Given the description of an element on the screen output the (x, y) to click on. 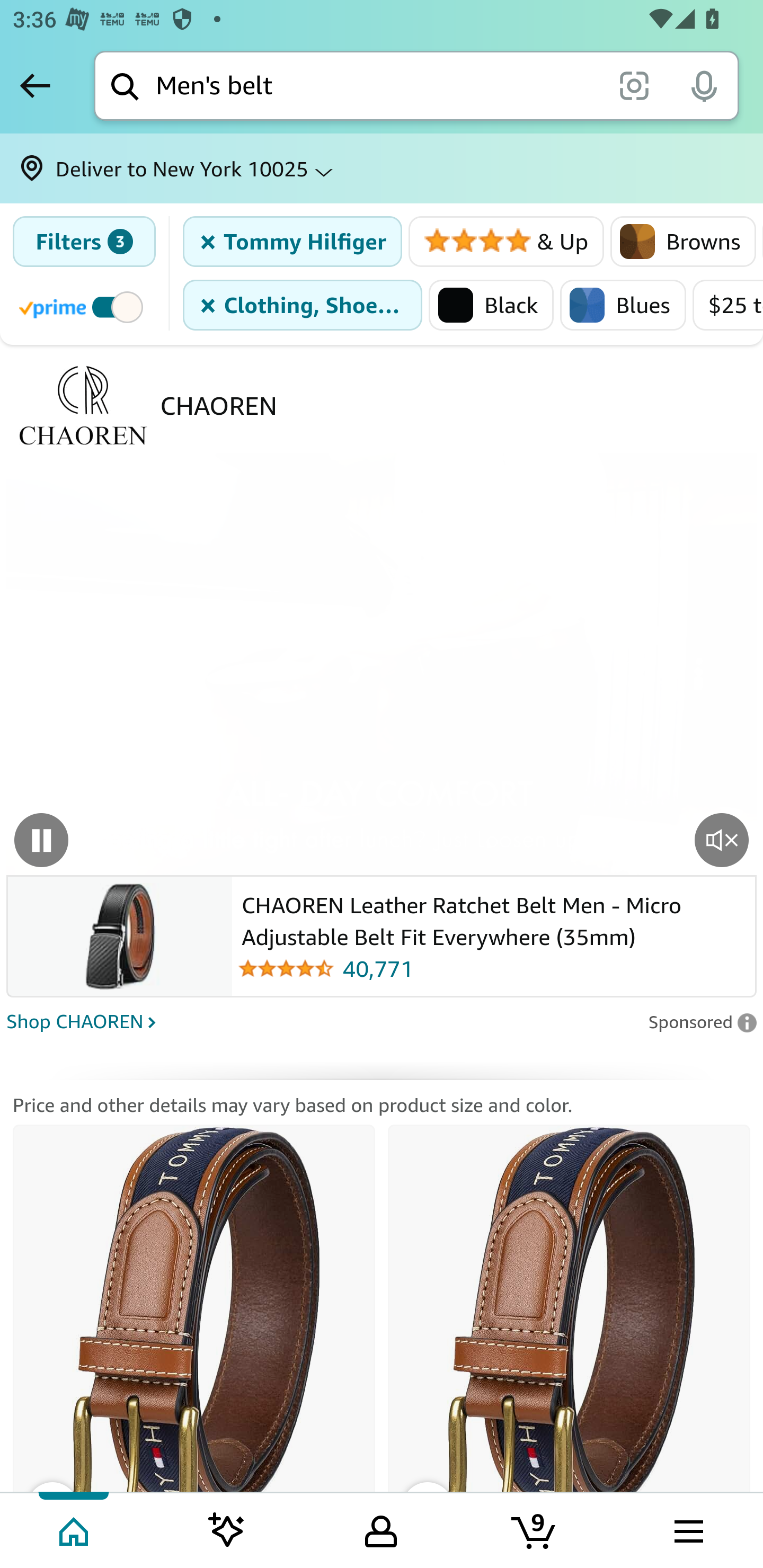
Back (35, 85)
scan it (633, 85)
Deliver to New York 10025 ⌵ (381, 168)
Filters 3 (83, 241)
× Tommy Hilfiger × Tommy Hilfiger (293, 241)
4 Stars & Up (506, 241)
Browns Browns Browns Browns (683, 241)
Toggle to filter by Prime products Prime Eligible (83, 306)
Black Black Black Black (490, 304)
Blues Blues Blues Blues (622, 304)
$25 to $50 (727, 304)
CHAOREN (218, 404)
Mute Sponsored Video (721, 839)
40,771 (493, 967)
Shop CHAOREN  Shop  CHAOREN  (321, 1019)
Leave feedback on Sponsored ad (701, 1022)
More Like This (568, 1334)
Home Tab 1 of 5 (75, 1529)
Inspire feed Tab 2 of 5 (227, 1529)
Your Amazon.com Tab 3 of 5 (380, 1529)
Cart 9 items Tab 4 of 5 9 (534, 1529)
Browse menu Tab 5 of 5 (687, 1529)
